Given the description of an element on the screen output the (x, y) to click on. 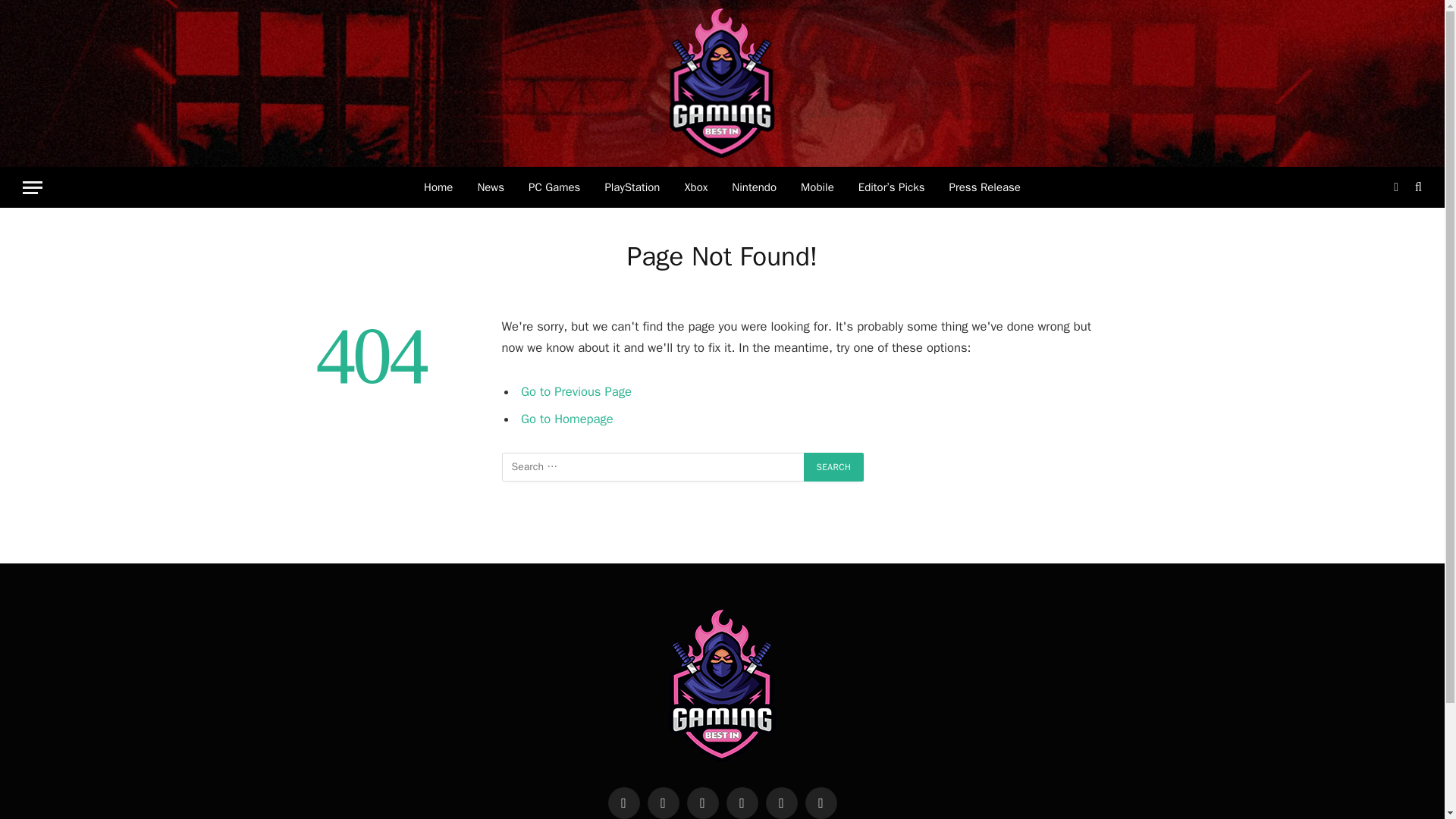
Search (833, 466)
Search (833, 466)
News (490, 187)
Mobile (817, 187)
Best in Gaming (722, 83)
Press Release (984, 187)
Home (438, 187)
Xbox (695, 187)
PlayStation (631, 187)
Switch to Dark Design - easier on eyes. (1396, 186)
PC Games (554, 187)
Nintendo (754, 187)
